Given the description of an element on the screen output the (x, y) to click on. 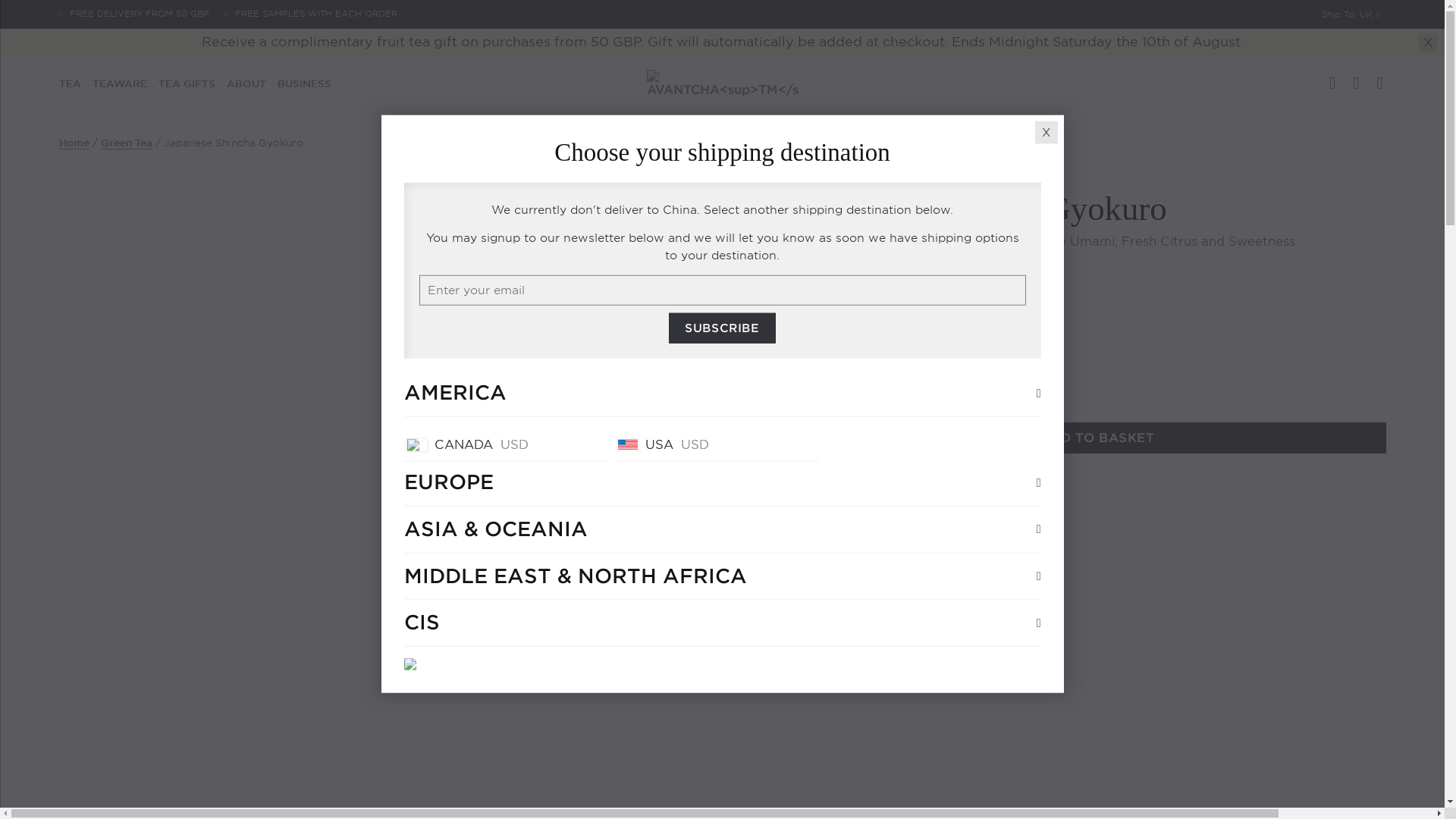
1 (872, 350)
Green Tea (830, 174)
Qty (872, 350)
GB (1382, 51)
TEA (70, 83)
